Given the description of an element on the screen output the (x, y) to click on. 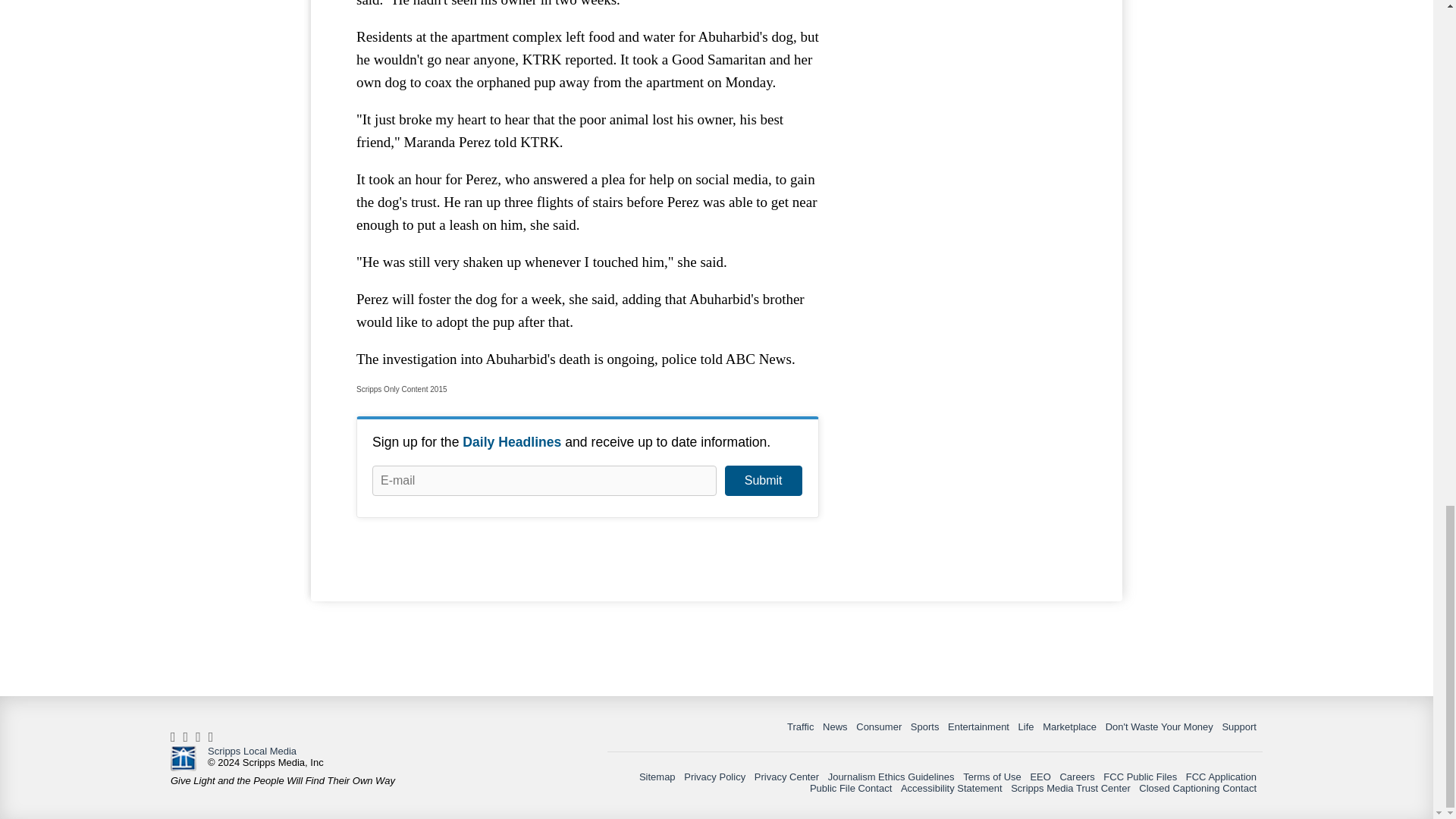
Submit (763, 481)
